Given the description of an element on the screen output the (x, y) to click on. 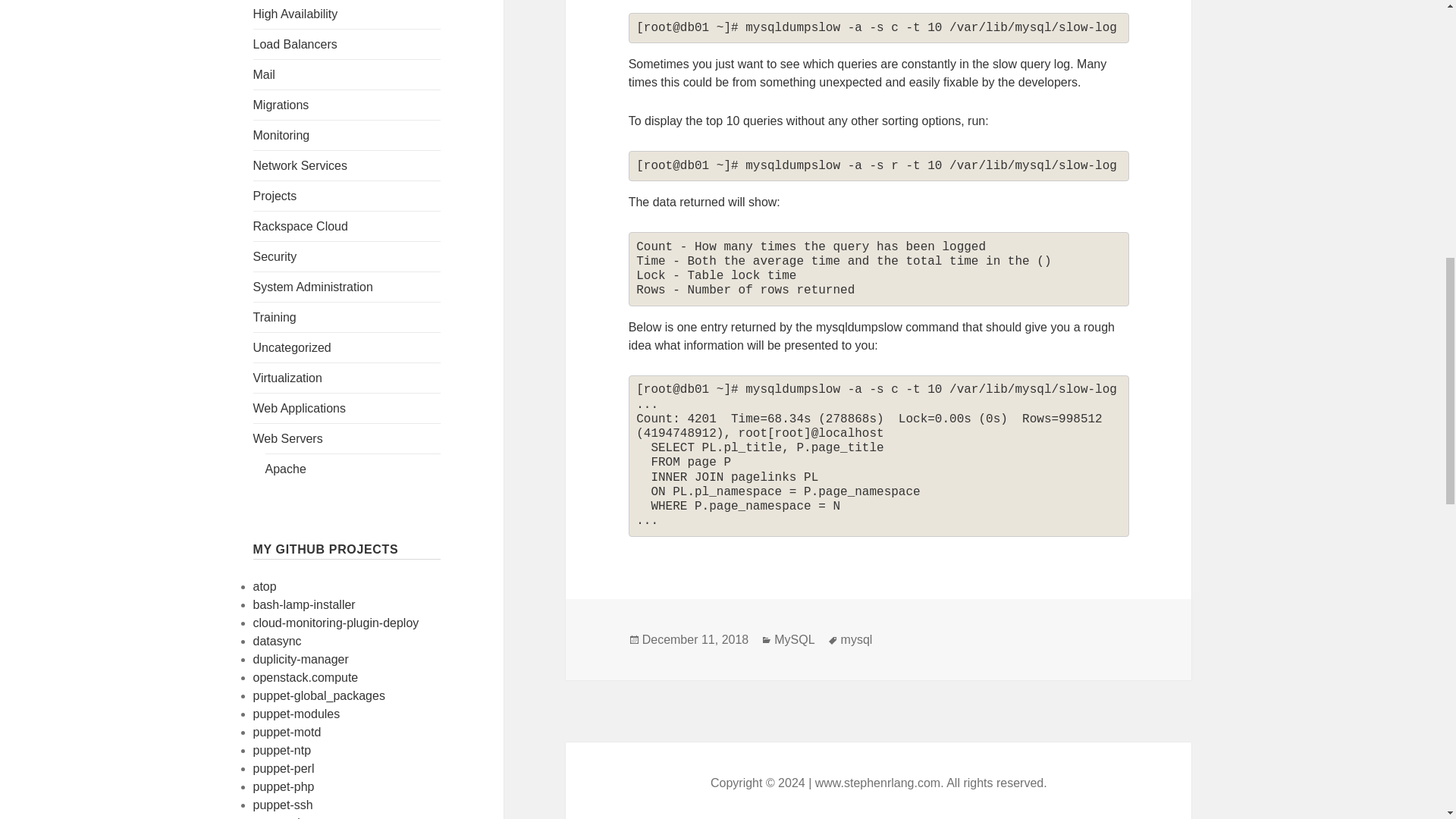
puppet-modules (296, 713)
atop (264, 585)
Web Servers (288, 438)
datasync (277, 640)
System Administration (312, 286)
Apache (284, 468)
Load Balancers (295, 43)
Web Applications (299, 408)
puppet-ntp (282, 749)
Training (275, 317)
openstack.compute (305, 676)
Security (275, 256)
Virtualization (287, 377)
Monitoring (281, 134)
bash-lamp-installer (304, 604)
